Given the description of an element on the screen output the (x, y) to click on. 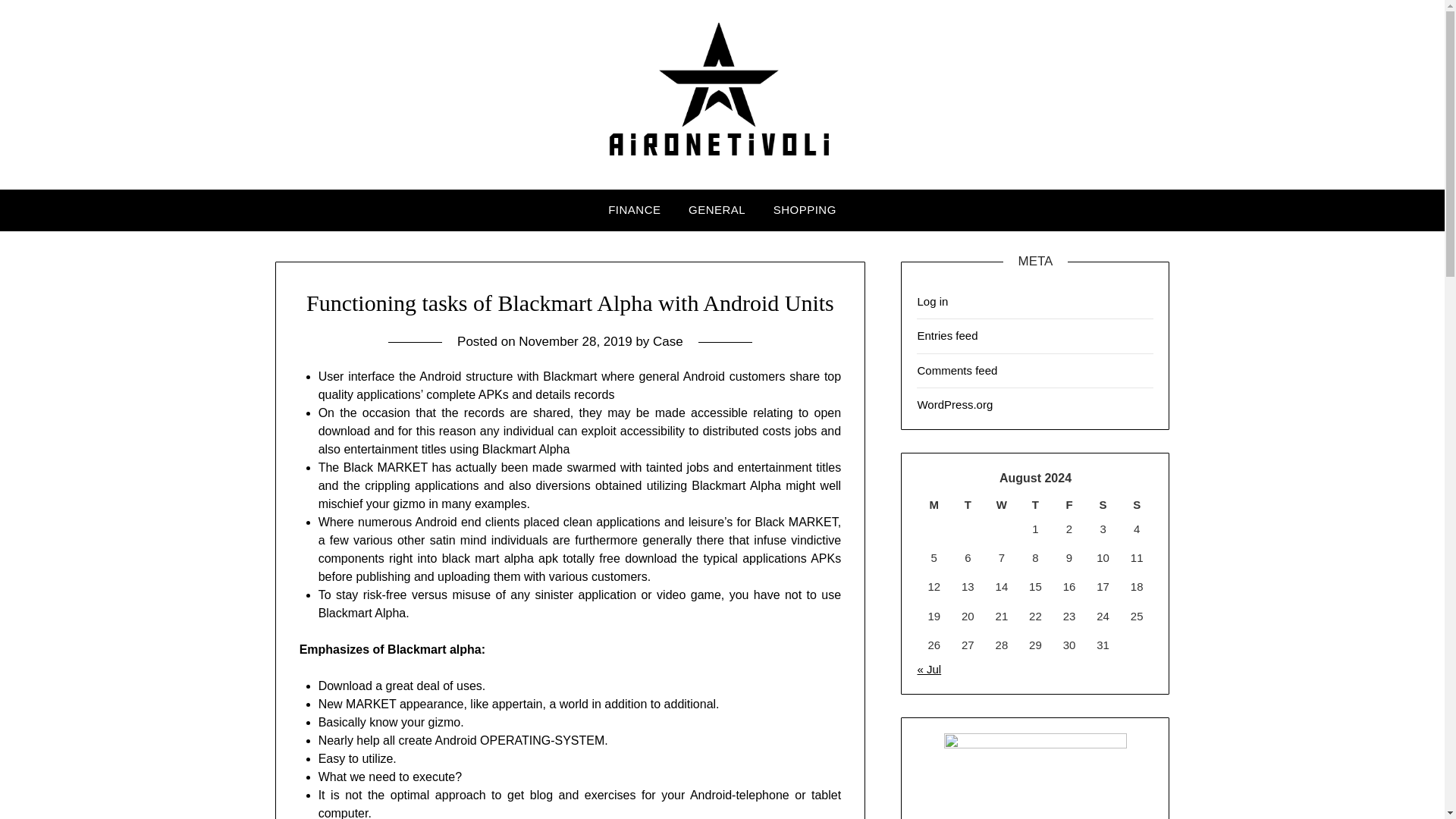
Thursday (1034, 505)
Saturday (1102, 505)
November 28, 2019 (574, 341)
Monday (933, 505)
Entries feed (946, 335)
Friday (1069, 505)
FINANCE (633, 209)
Log in (932, 300)
WordPress.org (954, 404)
SHOPPING (804, 209)
GENERAL (717, 209)
Wednesday (1002, 505)
Sunday (1136, 505)
Comments feed (957, 369)
Case (667, 341)
